Given the description of an element on the screen output the (x, y) to click on. 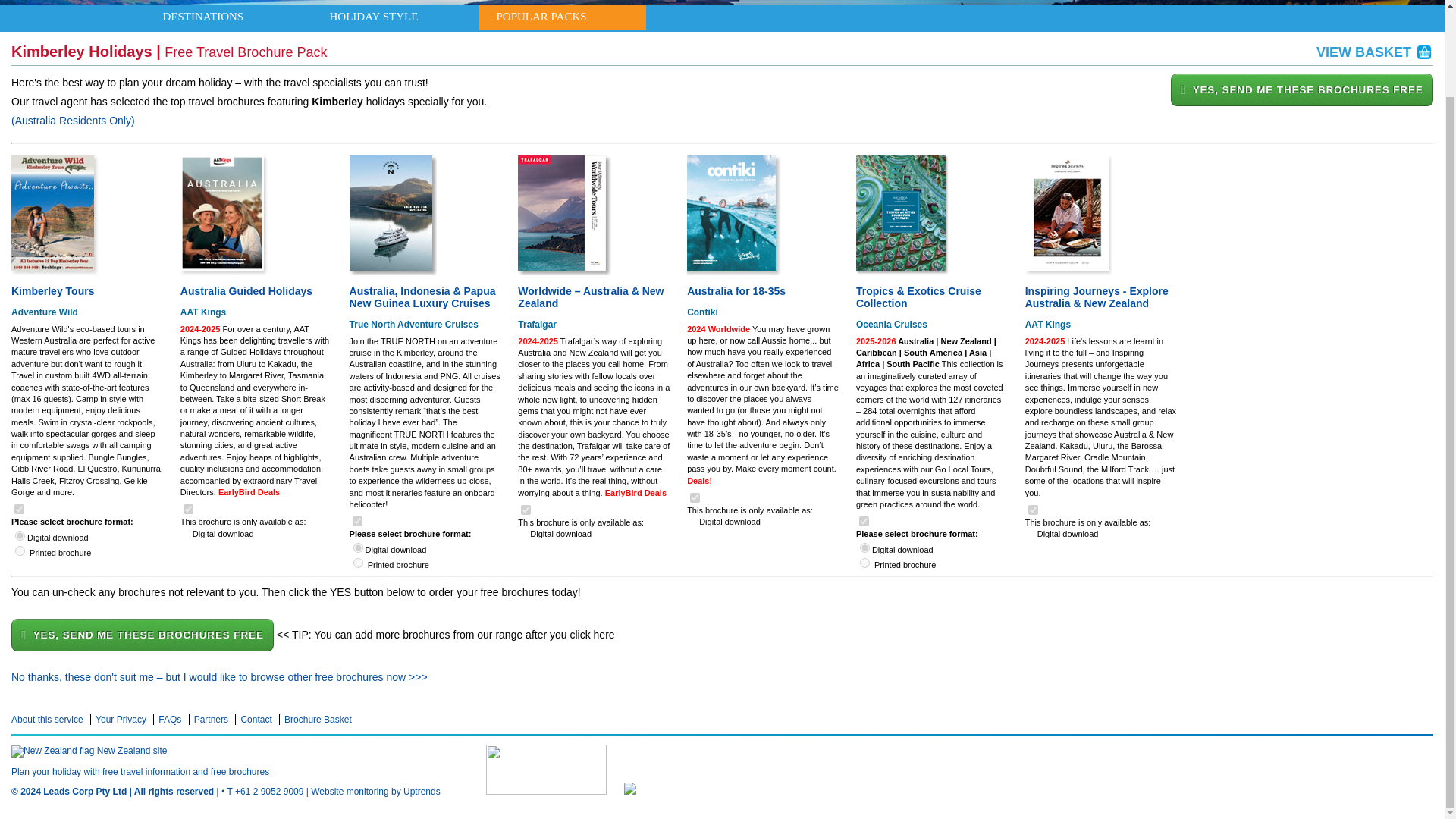
VIEW BASKET (1374, 52)
DESTINATIONS (202, 16)
1 (864, 521)
1 (1032, 510)
1 (526, 510)
1 (357, 521)
D (19, 535)
D (357, 547)
1 (695, 497)
P (864, 562)
